Given the description of an element on the screen output the (x, y) to click on. 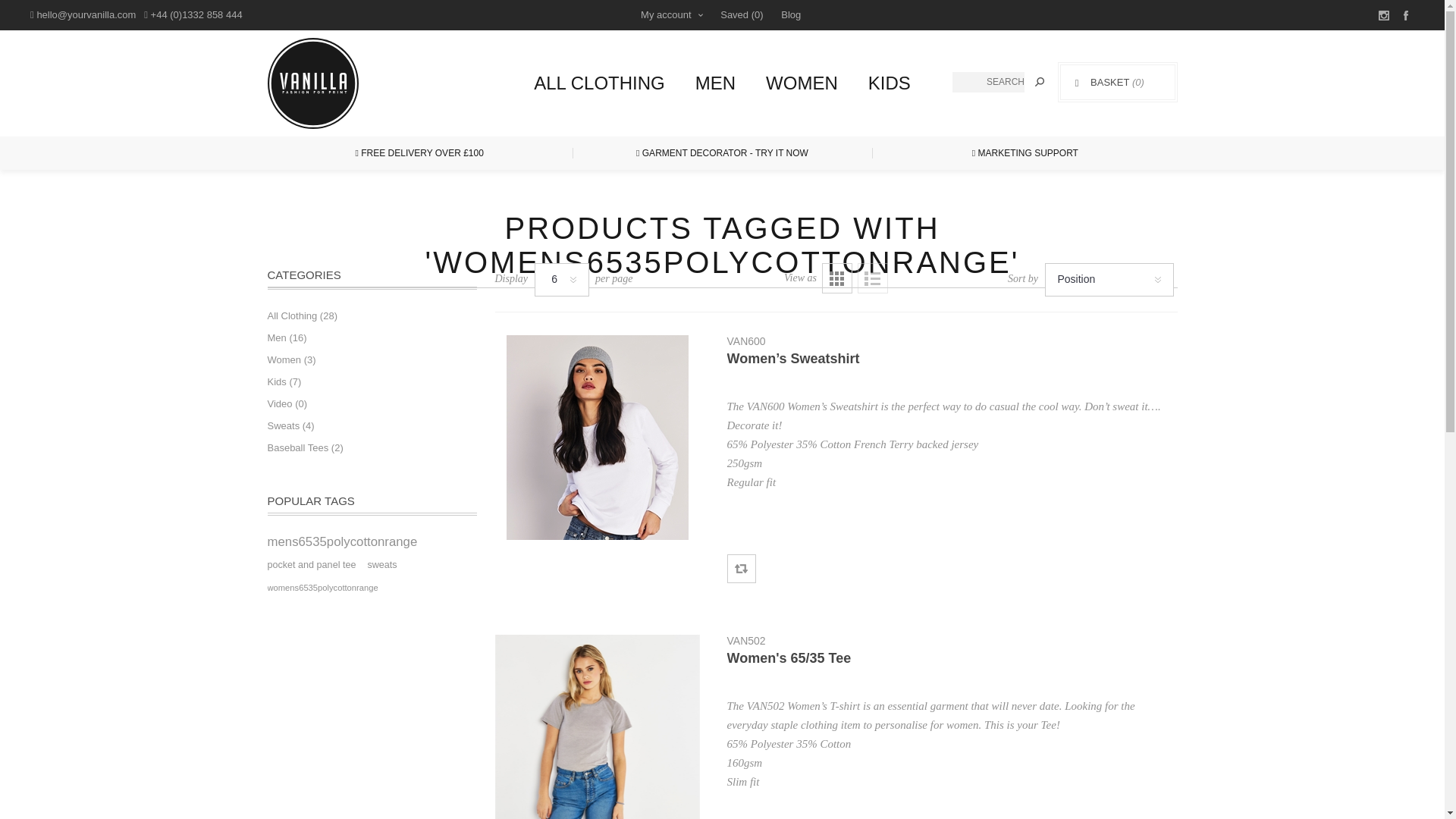
KIDS (889, 83)
MEN (715, 83)
ALL CLOTHING (598, 83)
WOMEN (802, 83)
Search (1039, 81)
My account (670, 15)
Search (1039, 81)
Add to compare list (740, 568)
Search (1039, 81)
